Given the description of an element on the screen output the (x, y) to click on. 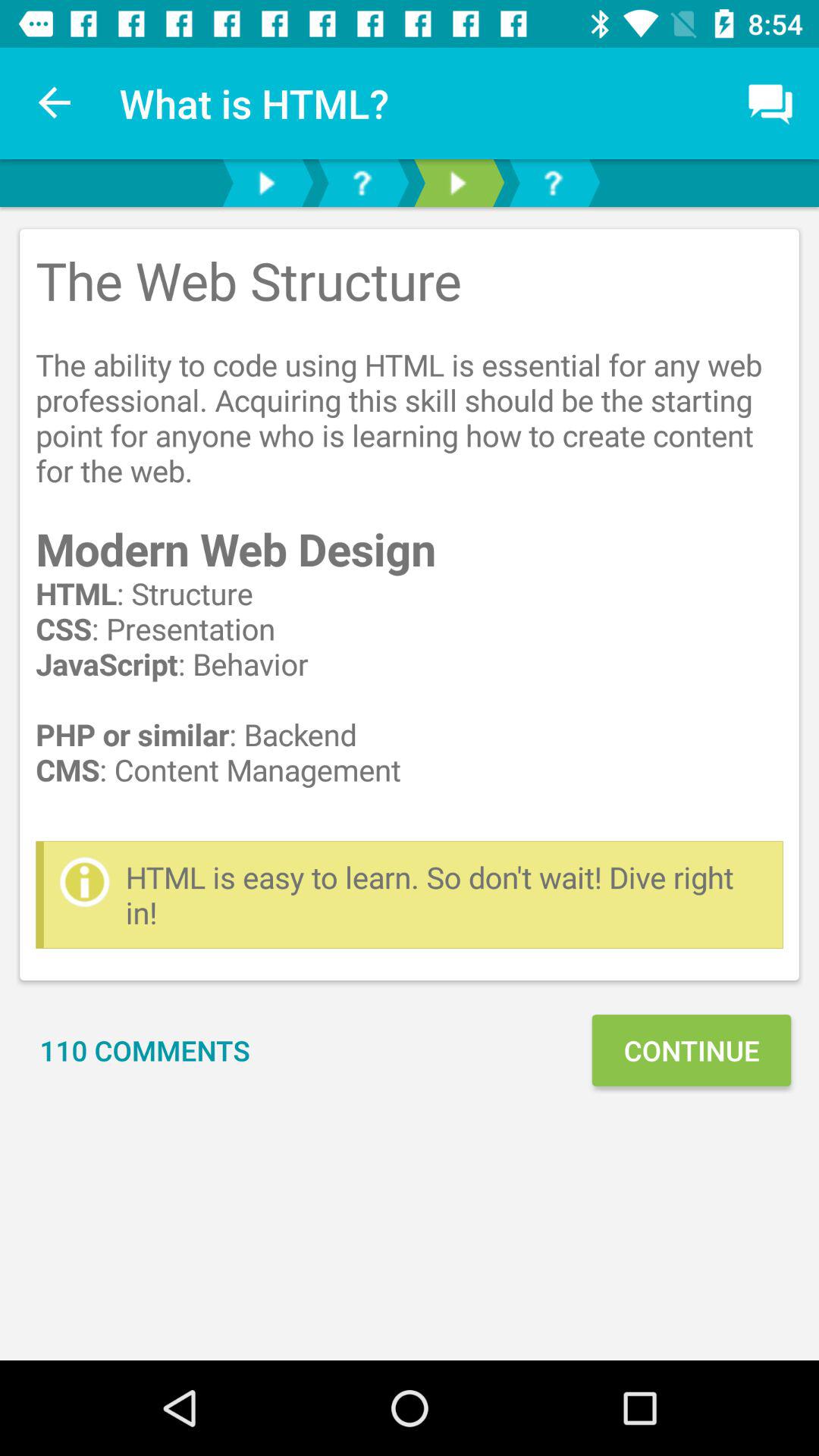
press item below the html is easy icon (691, 1050)
